Given the description of an element on the screen output the (x, y) to click on. 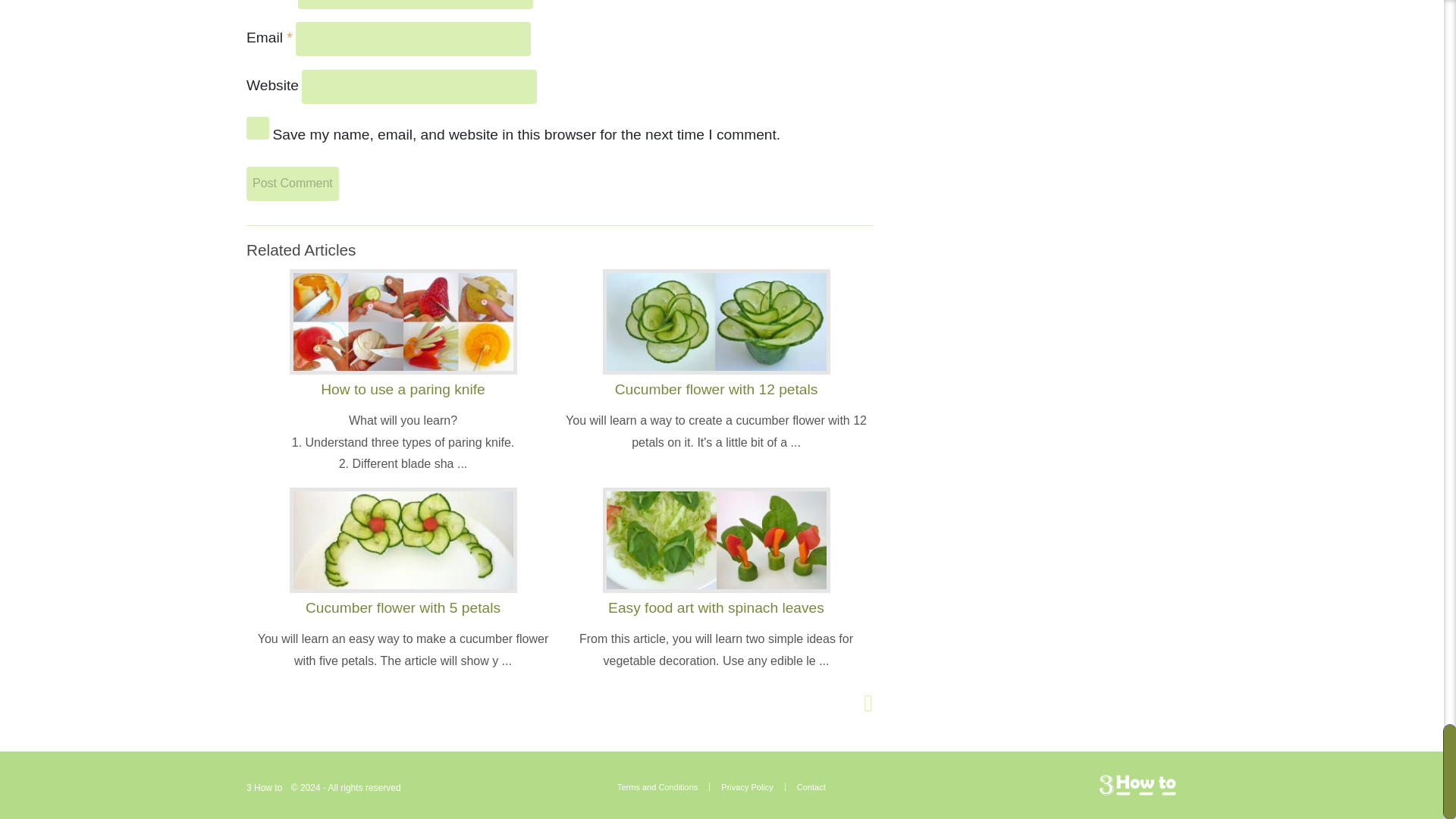
yes (257, 128)
Post Comment (292, 183)
Post Comment (292, 183)
